Given the description of an element on the screen output the (x, y) to click on. 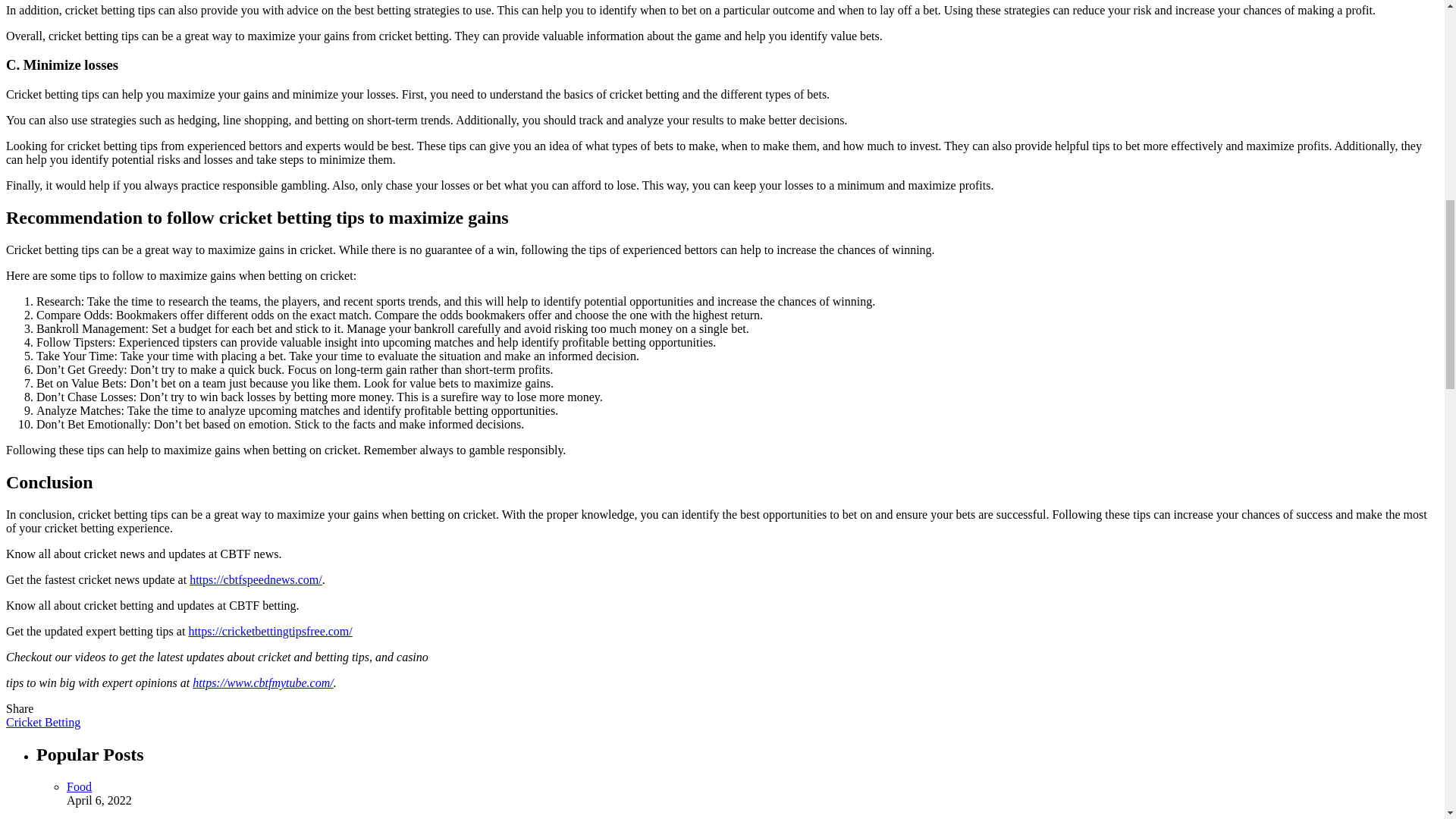
Food (78, 786)
Cricket Betting (42, 721)
